Given the description of an element on the screen output the (x, y) to click on. 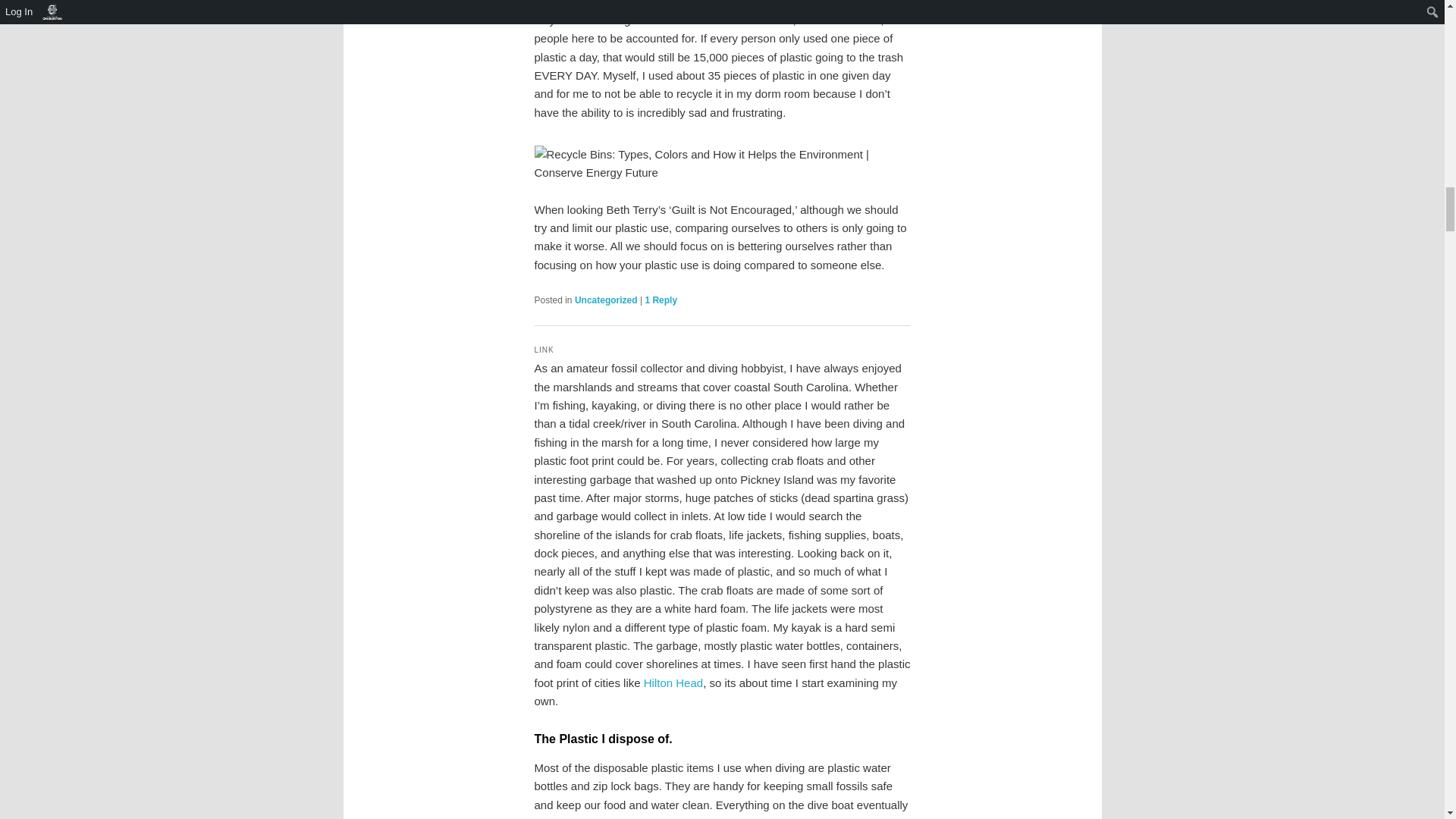
1 Reply (661, 299)
Uncategorized (606, 299)
Hilton Head (673, 682)
